Given the description of an element on the screen output the (x, y) to click on. 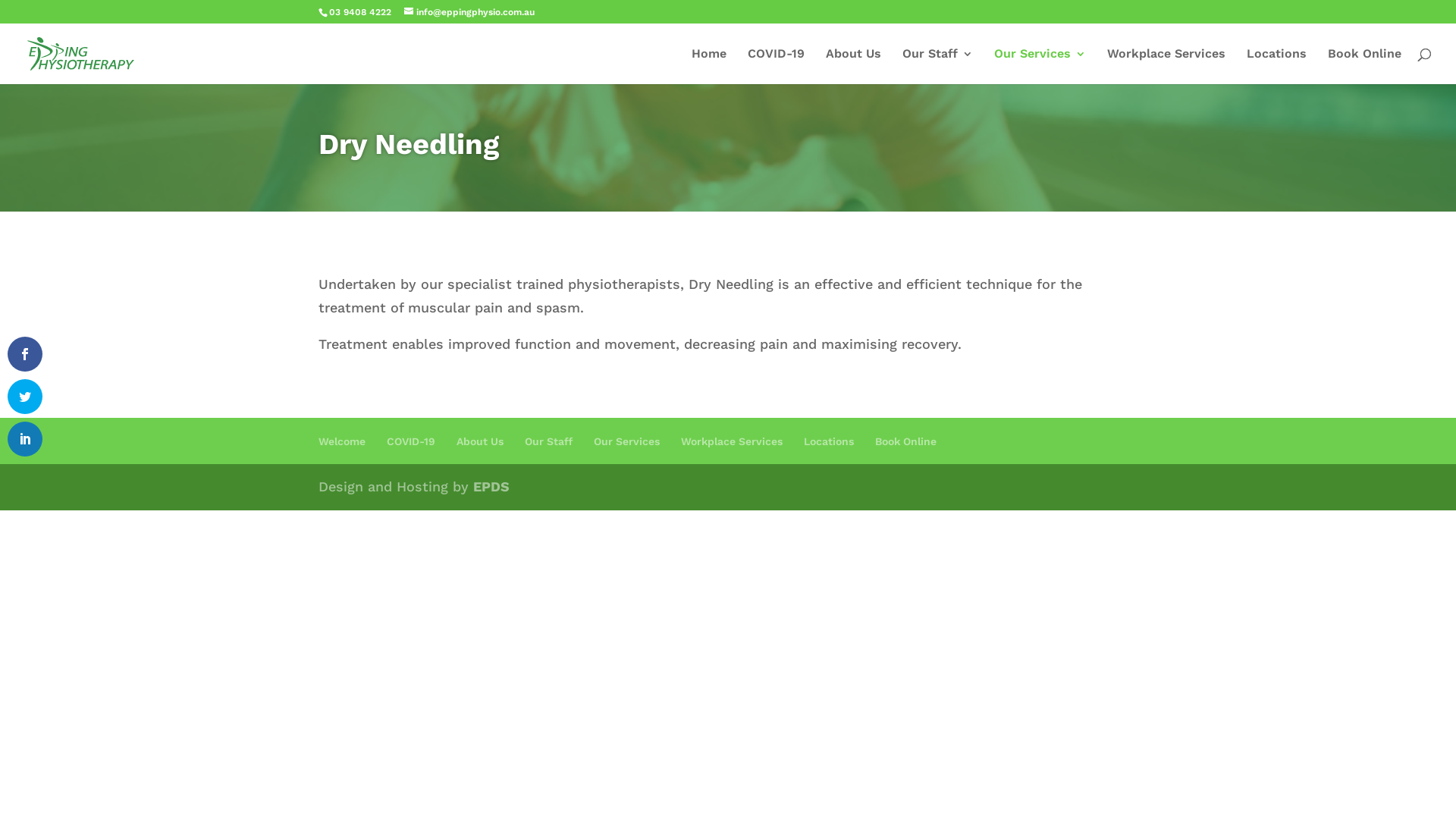
Book Online Element type: text (1364, 66)
info@eppingphysio.com.au Element type: text (469, 11)
COVID-19 Element type: text (775, 66)
COVID-19 Element type: text (410, 441)
Welcome Element type: text (341, 441)
EPDS Element type: text (491, 486)
About Us Element type: text (853, 66)
Workplace Services Element type: text (731, 441)
Our Services Element type: text (626, 441)
About Us Element type: text (479, 441)
Our Staff Element type: text (548, 441)
Book Online Element type: text (905, 441)
Locations Element type: text (828, 441)
Our Services Element type: text (1039, 66)
Locations Element type: text (1276, 66)
Home Element type: text (708, 66)
Workplace Services Element type: text (1166, 66)
Our Staff Element type: text (937, 66)
